Given the description of an element on the screen output the (x, y) to click on. 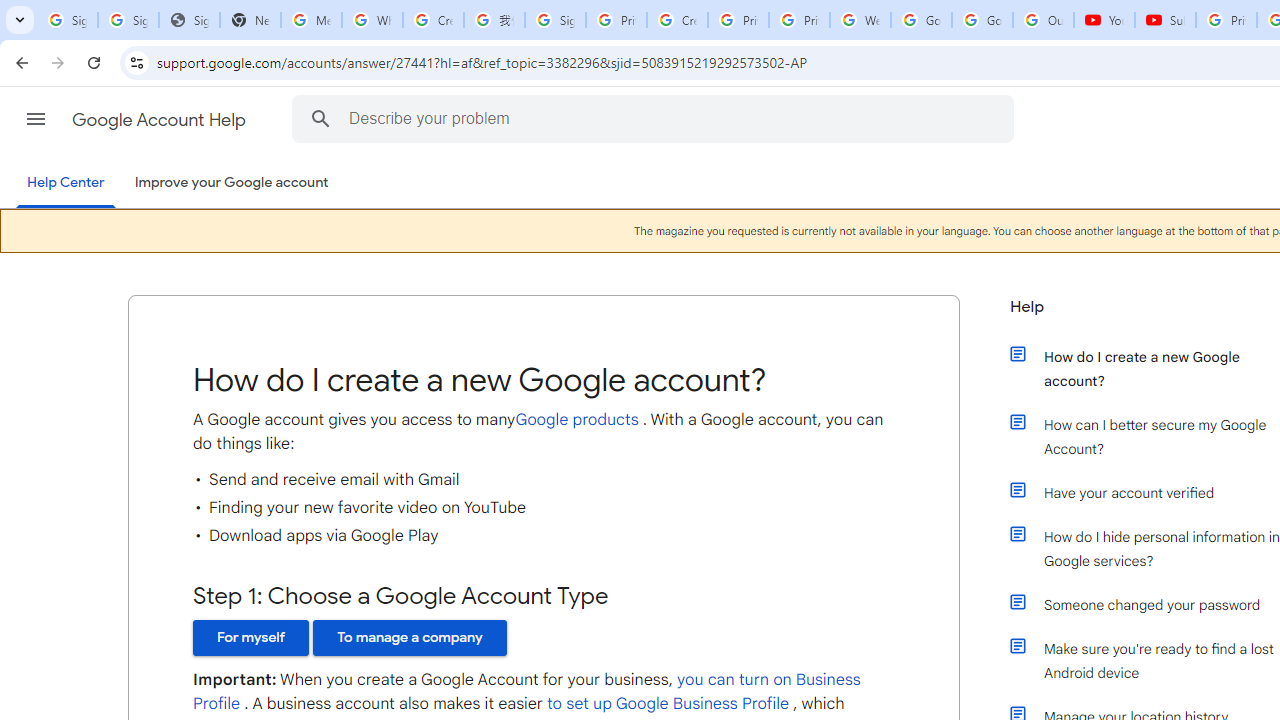
Welcome to My Activity (859, 20)
Google Account (982, 20)
Describe your problem (655, 118)
For myself (251, 637)
New Tab (250, 20)
Sign in - Google Accounts (128, 20)
Main menu (35, 119)
Improve your Google account (231, 183)
